Given the description of an element on the screen output the (x, y) to click on. 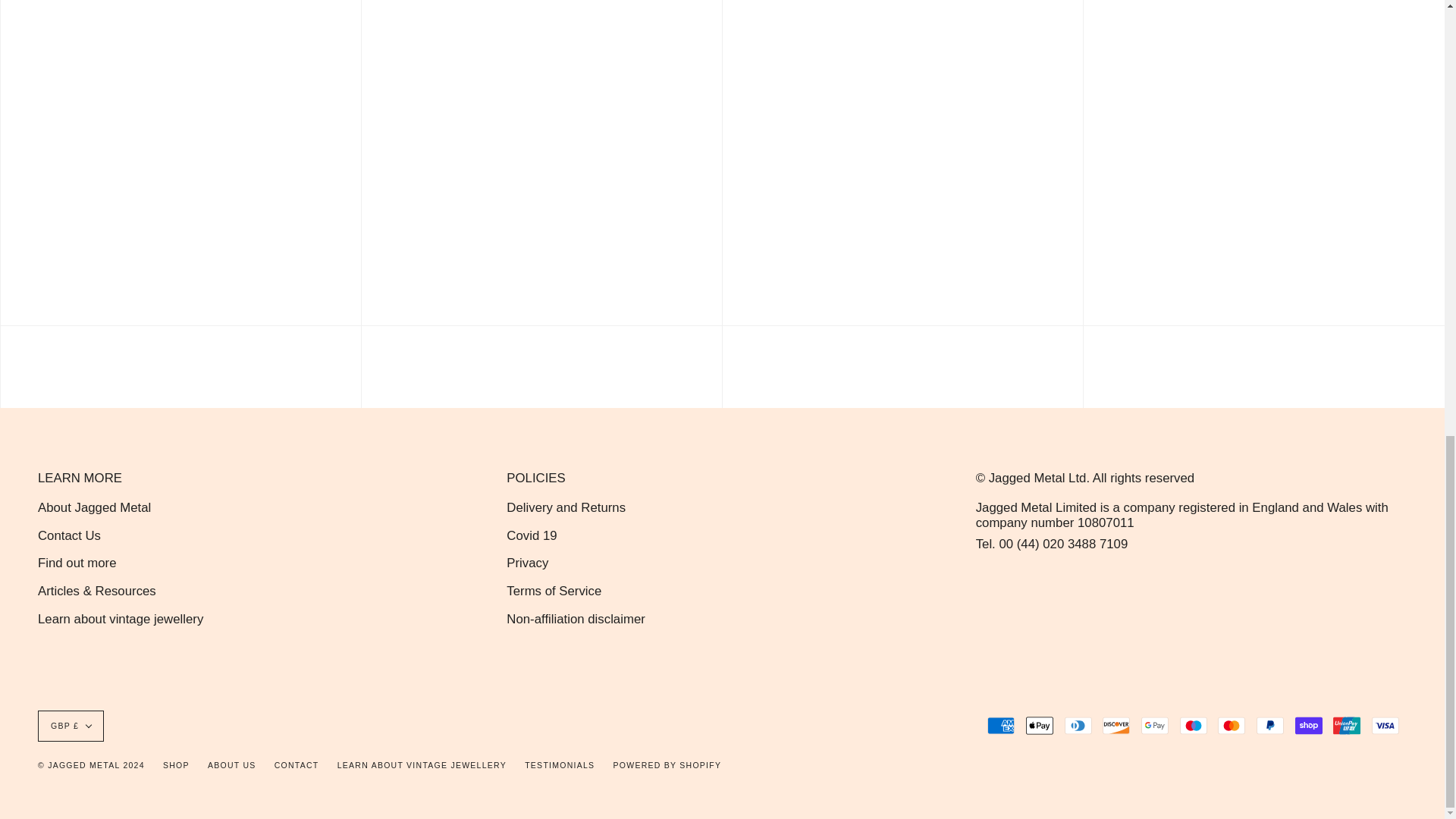
Mastercard (1230, 725)
Maestro (1193, 725)
American Express (1000, 725)
Apple Pay (1039, 725)
Diners Club (1078, 725)
Discover (1115, 725)
Visa (1385, 725)
Shop Pay (1308, 725)
Union Pay (1346, 725)
Google Pay (1155, 725)
